Given the description of an element on the screen output the (x, y) to click on. 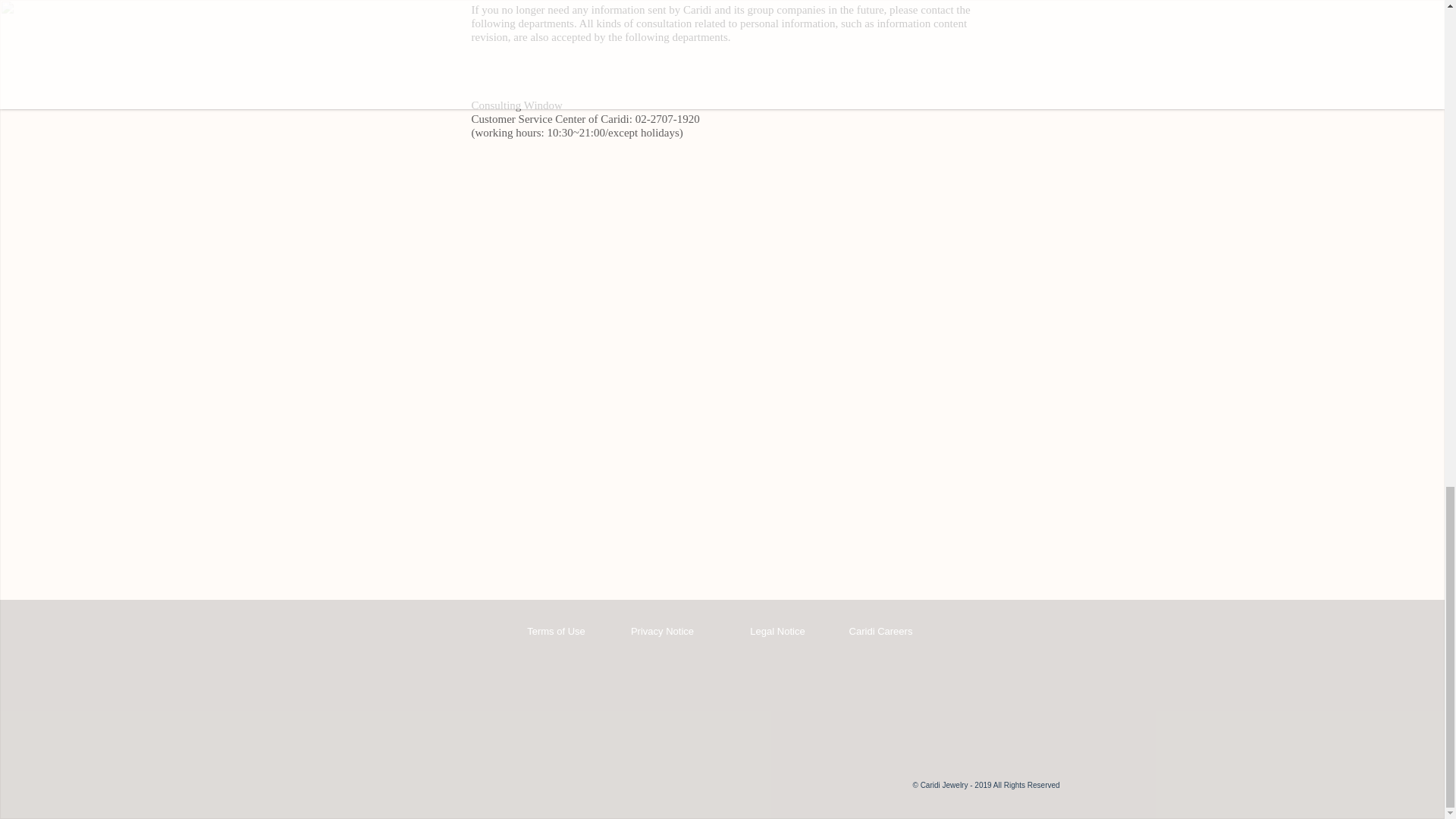
Privacy Notice (662, 631)
Terms of Use (556, 631)
